Given the description of an element on the screen output the (x, y) to click on. 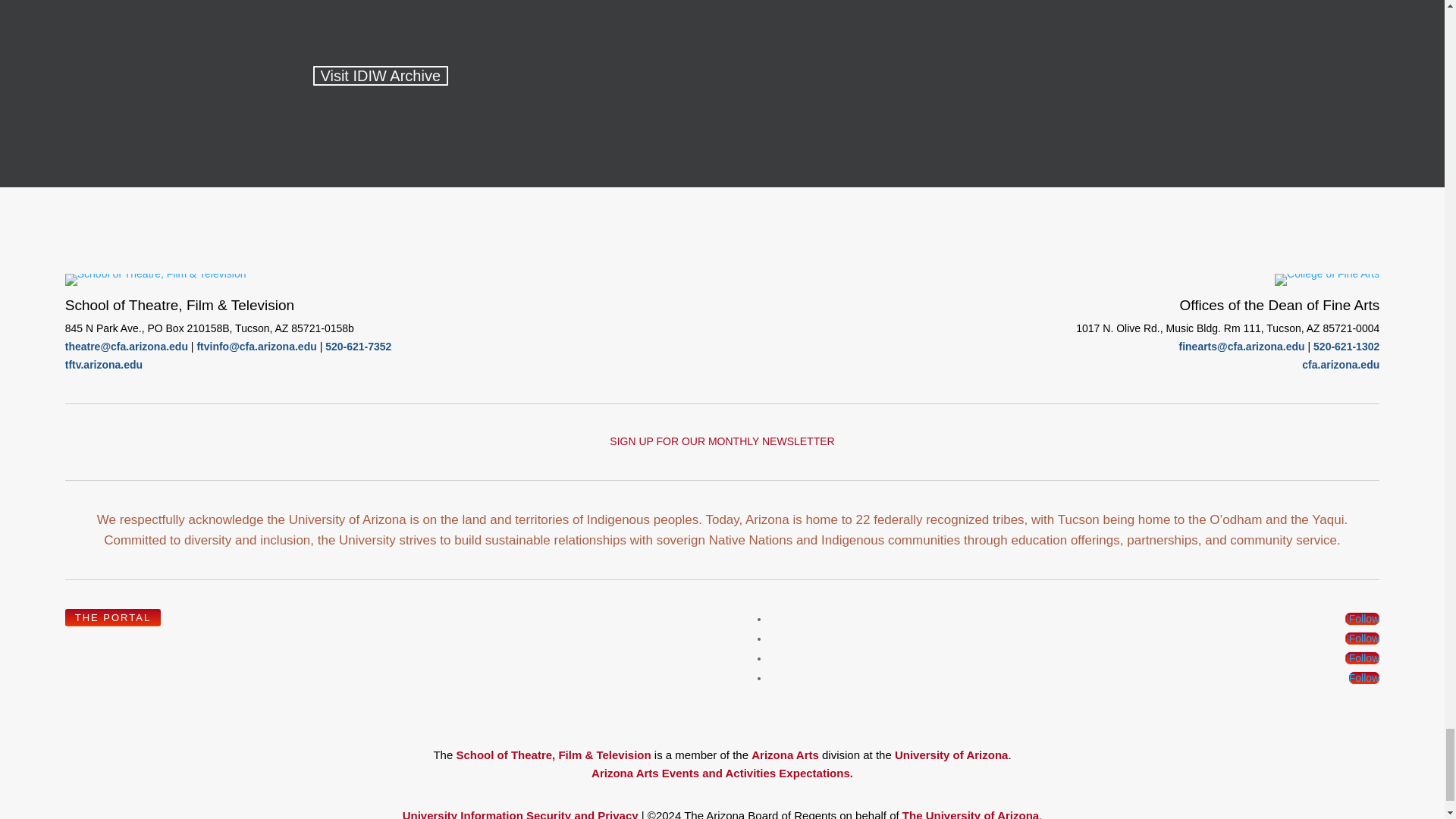
Follow on Facebook (1362, 618)
Follow on X (1362, 638)
520-621-1302 (1345, 346)
cfa.arizona.edu (1339, 364)
tftv.arizona.edu (103, 364)
Follow on Instagram (1362, 657)
Follow on Youtube (1363, 677)
520-621-7352 (357, 346)
SIGN UP FOR OUR MONTHLY NEWSLETTER (722, 440)
Visit IDIW Archive (380, 75)
